Given the description of an element on the screen output the (x, y) to click on. 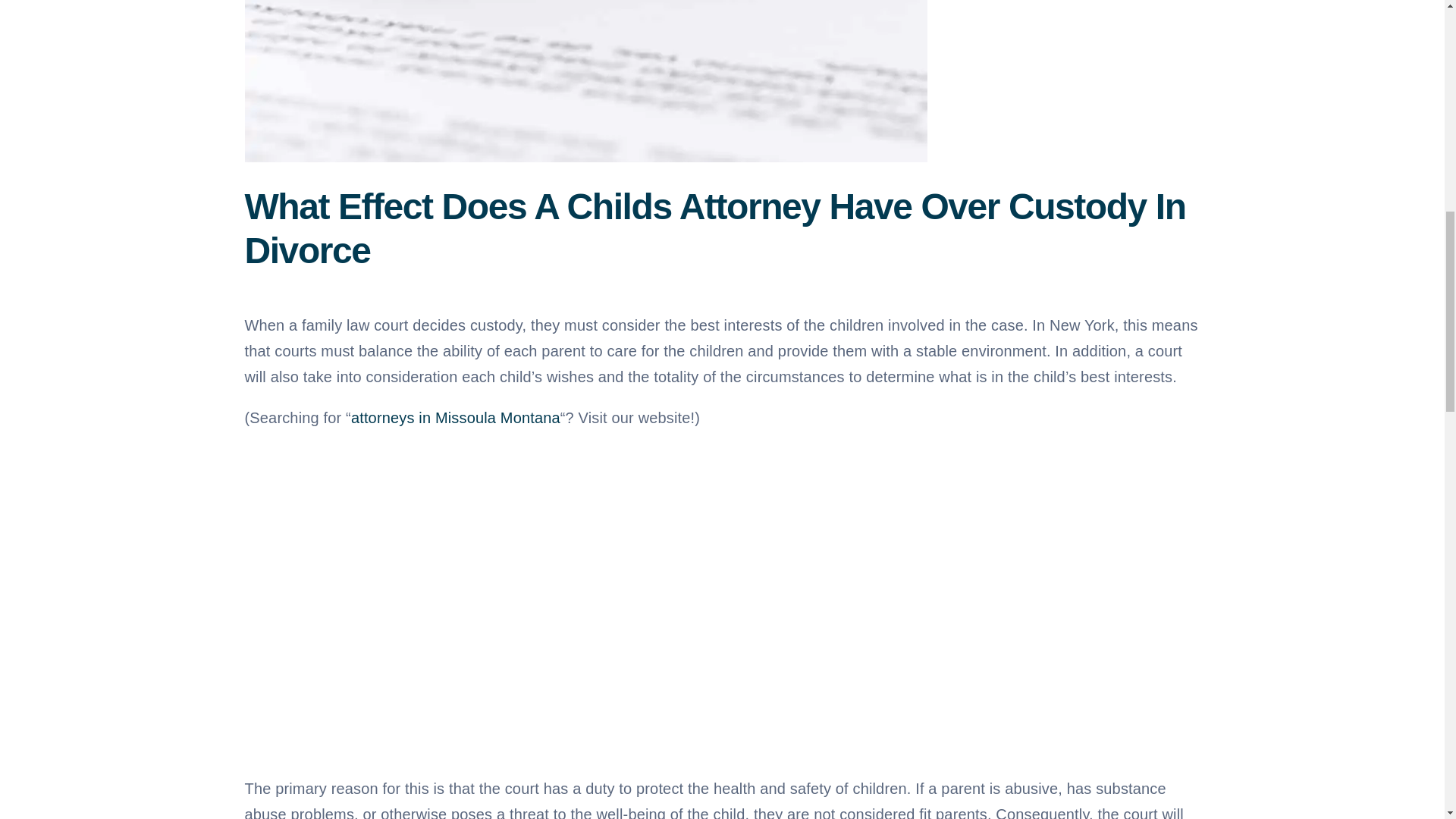
attorneys in Missoula Montana (455, 417)
